Given the description of an element on the screen output the (x, y) to click on. 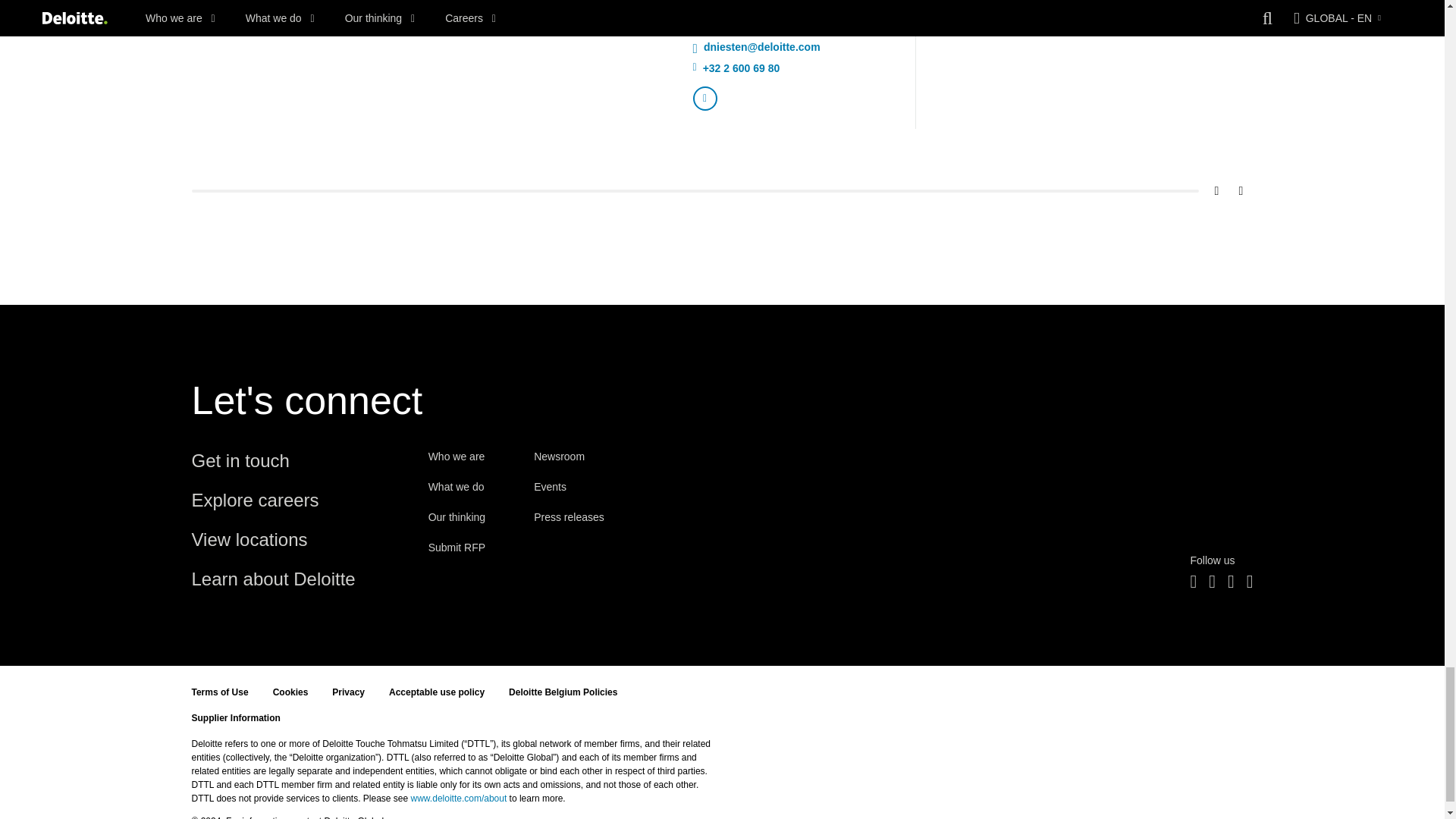
connect via linkedin (705, 98)
